Given the description of an element on the screen output the (x, y) to click on. 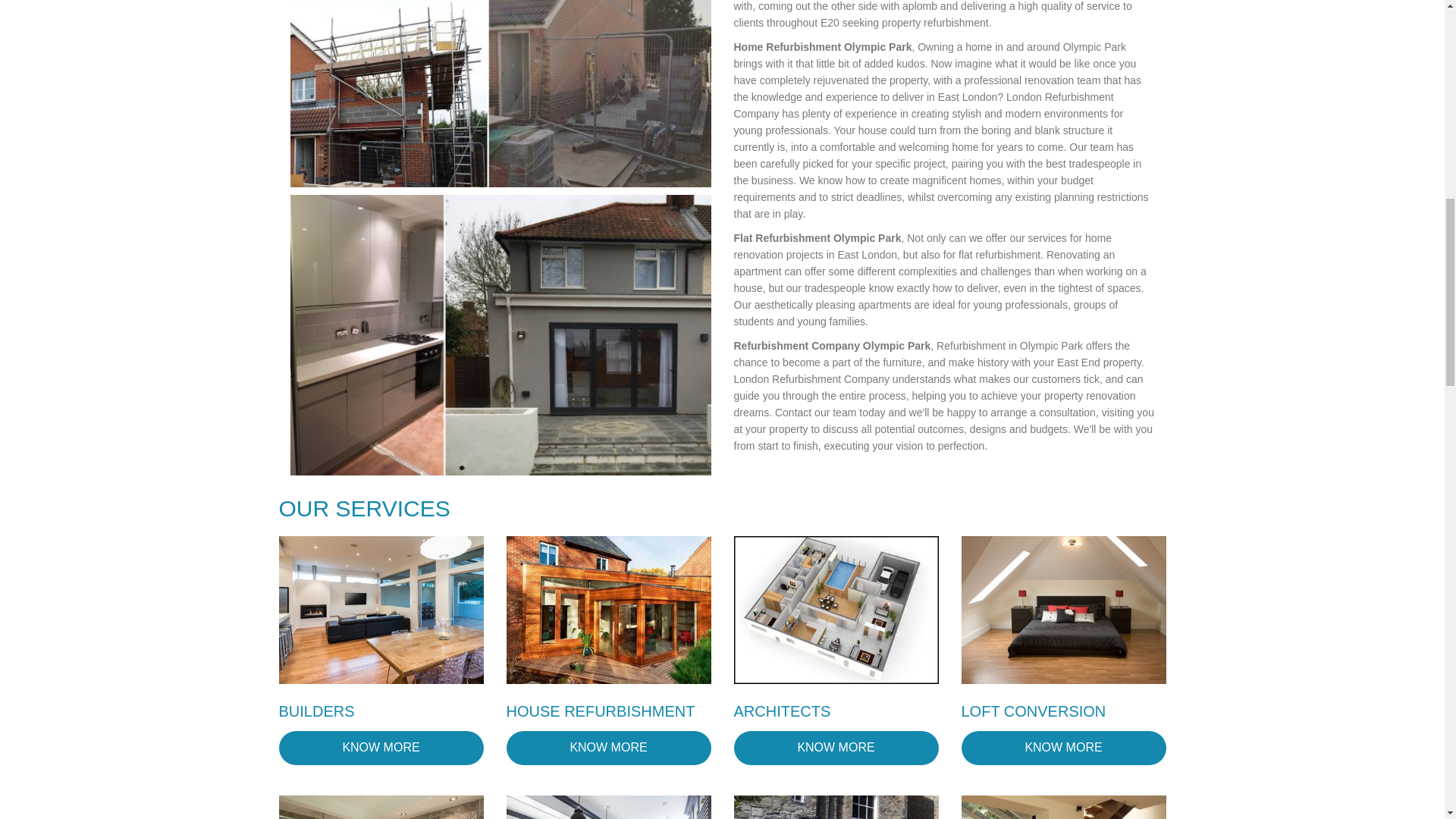
KNOW MORE (1063, 747)
KNOW MORE (836, 747)
KNOW MORE (381, 747)
KNOW MORE (608, 747)
